Given the description of an element on the screen output the (x, y) to click on. 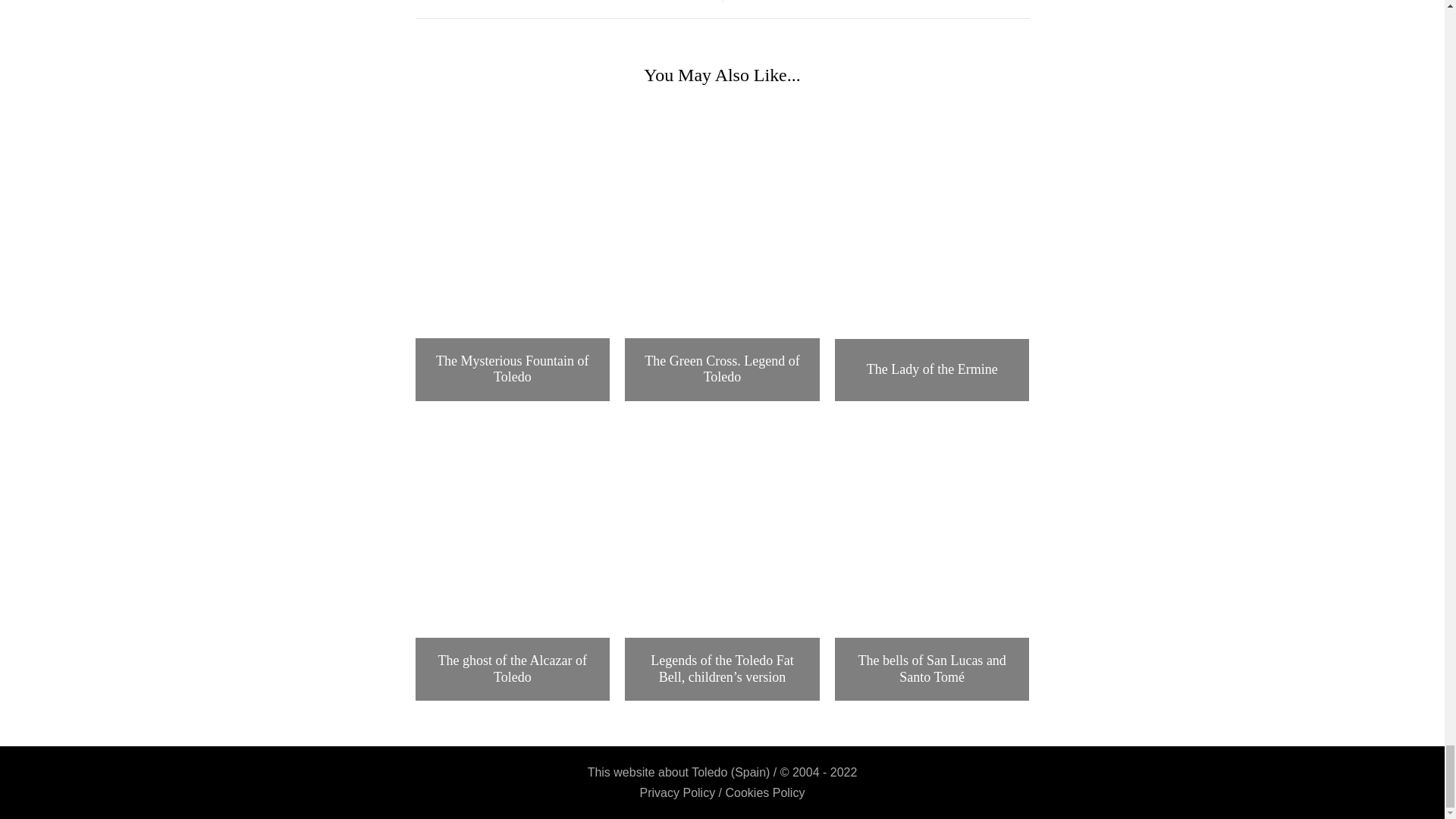
The Mysterious Fountain of Toledo (512, 368)
The ghost of the Alcazar of Toledo (512, 668)
The Mysterious Fountain of Toledo (512, 163)
The Lady of the Ermine (932, 369)
The Green Cross. Legend of Toledo (722, 368)
